Given the description of an element on the screen output the (x, y) to click on. 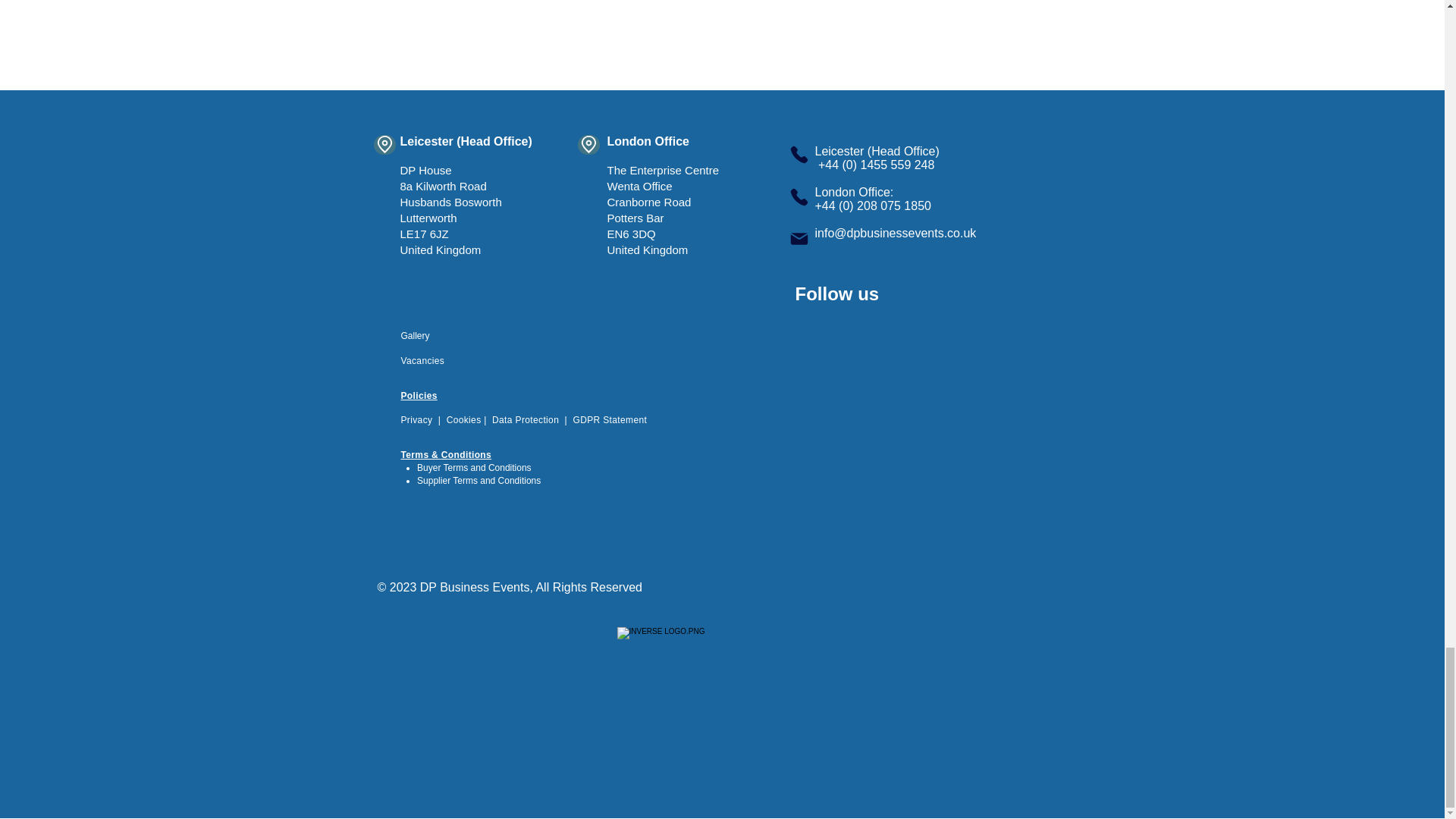
GDPR Statement (609, 419)
Vacancies (422, 360)
Gallery (414, 335)
